Given the description of an element on the screen output the (x, y) to click on. 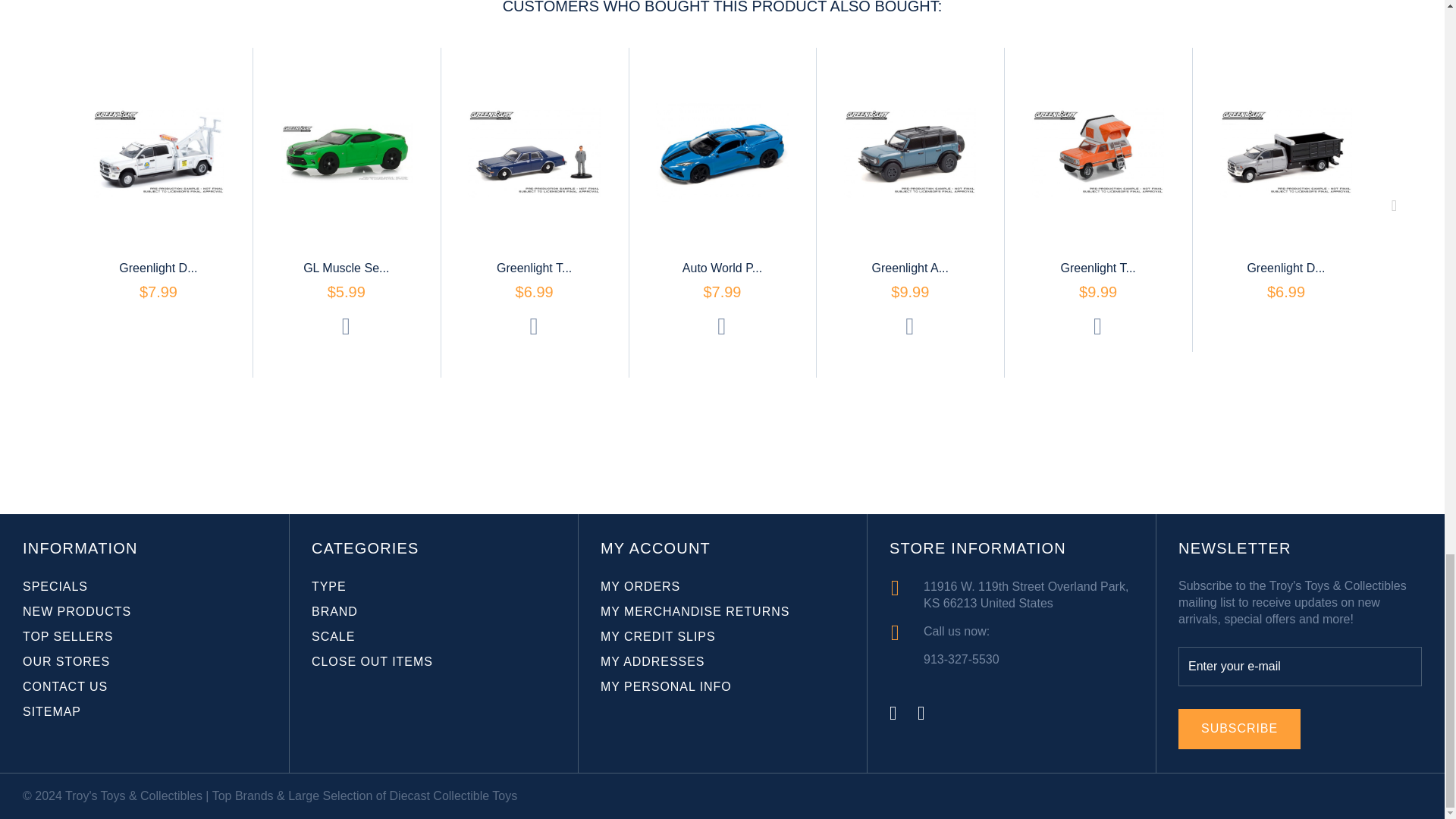
Enter your e-mail (1299, 666)
